Given the description of an element on the screen output the (x, y) to click on. 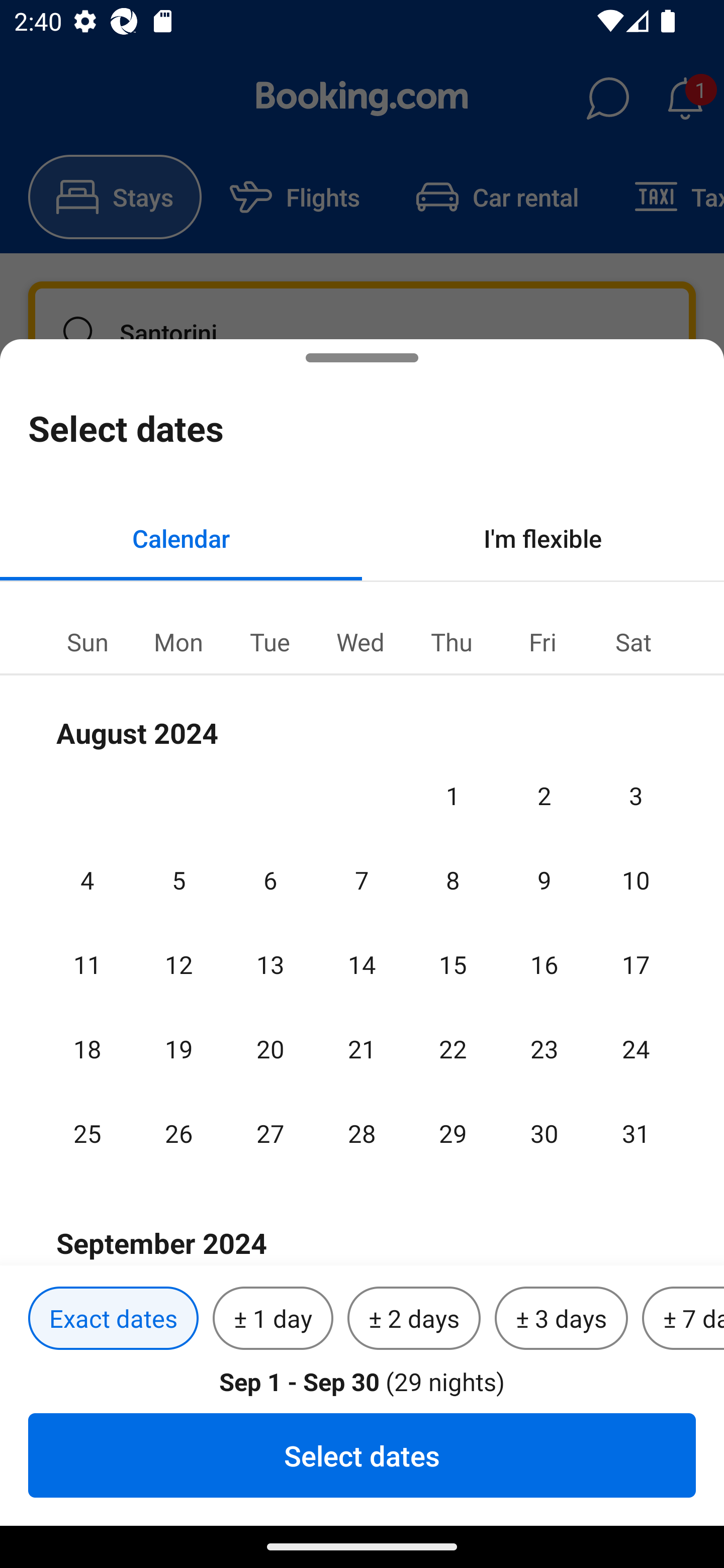
I'm flexible (543, 537)
Exact dates (113, 1318)
± 1 day (272, 1318)
± 2 days (413, 1318)
± 3 days (560, 1318)
± 7 days (683, 1318)
Select dates (361, 1454)
